Given the description of an element on the screen output the (x, y) to click on. 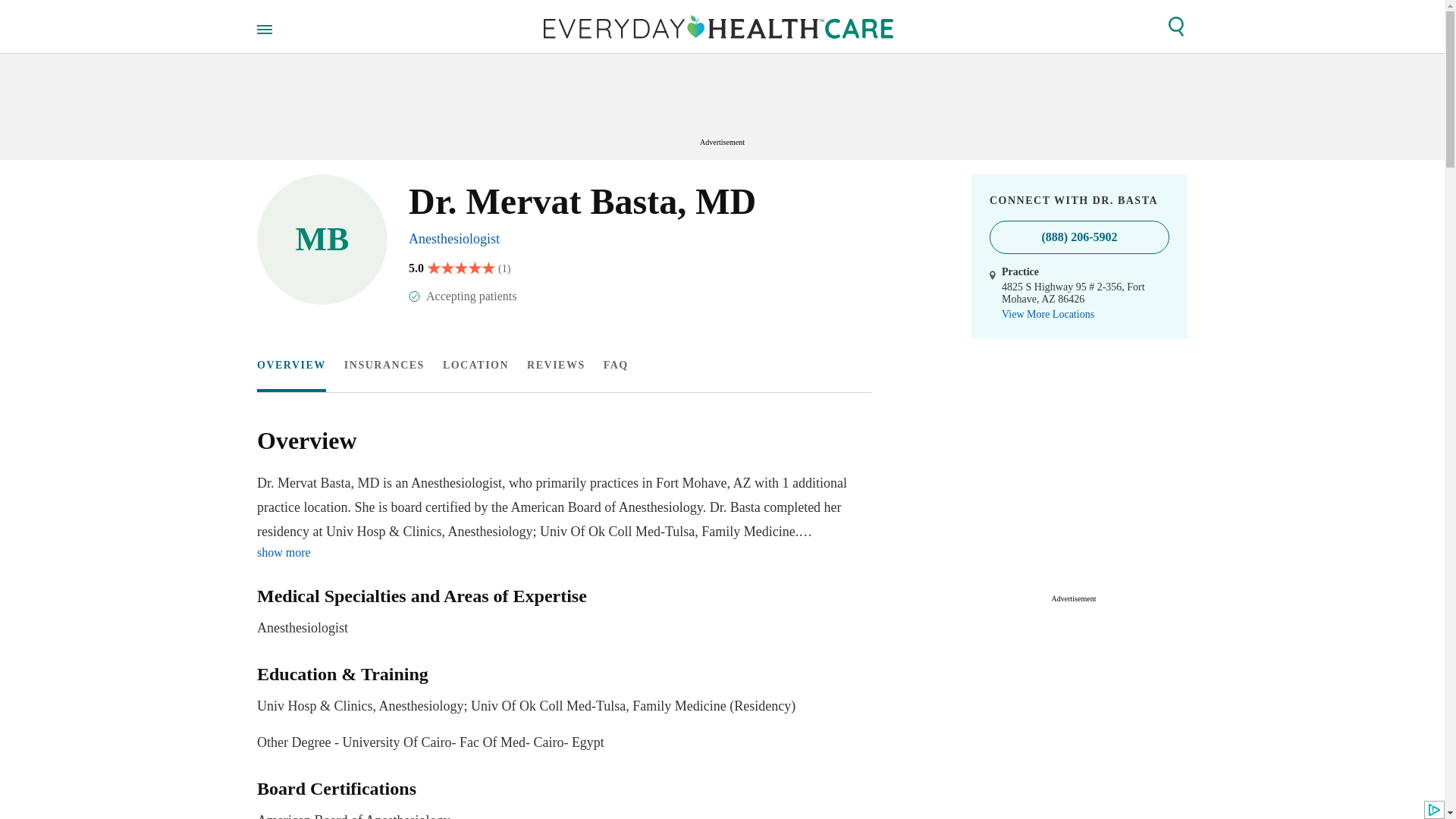
REVIEWS (556, 365)
LOCATION (475, 365)
View More Locations (1047, 314)
Anesthesiologist (560, 612)
INSURANCES (454, 238)
OVERVIEW (384, 365)
